Given the description of an element on the screen output the (x, y) to click on. 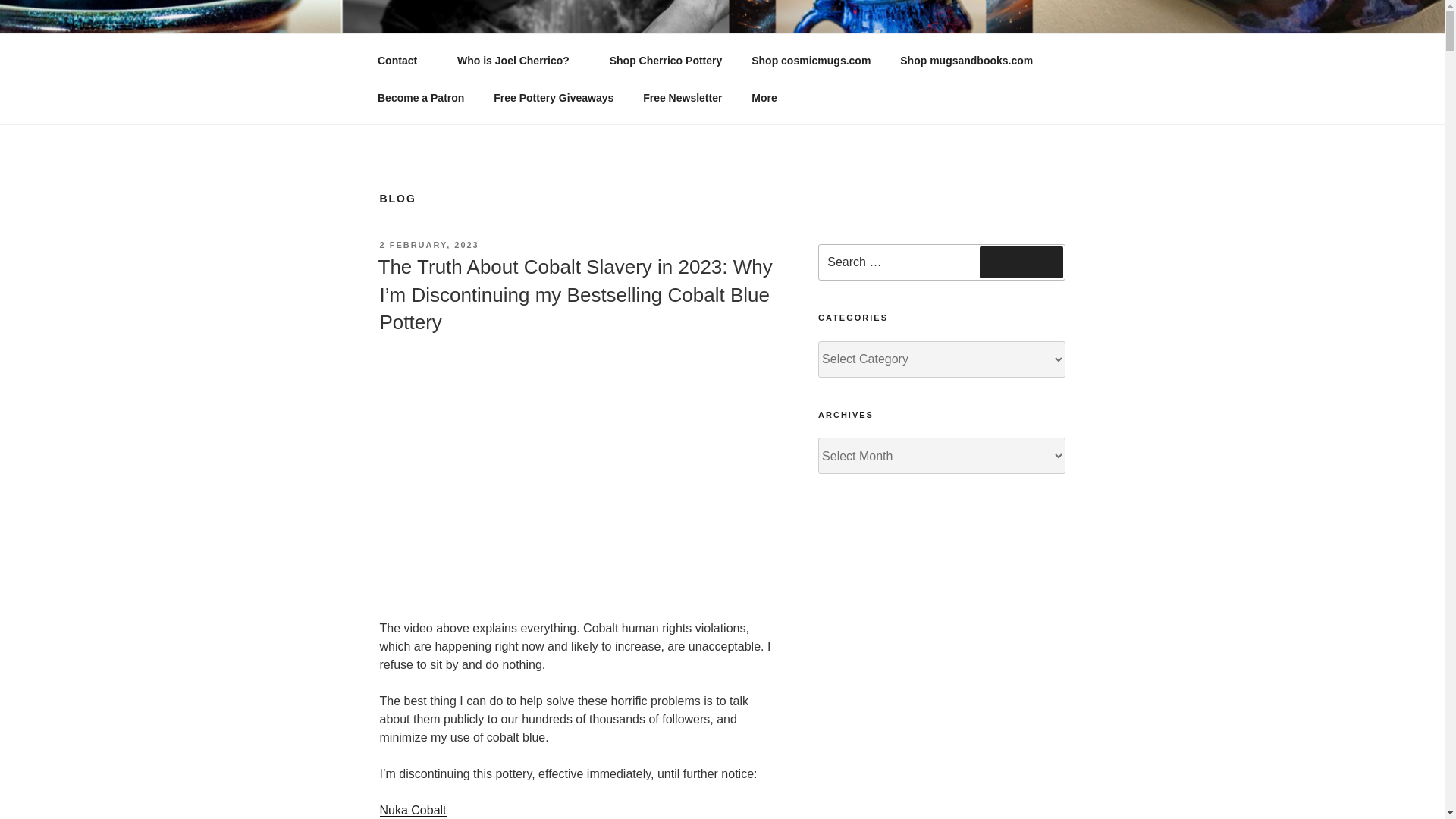
Free Pottery Giveaways (553, 97)
More (769, 97)
Contact (402, 60)
Free Newsletter (682, 97)
Shop cosmicmugs.com (810, 60)
Become a Patron (420, 97)
Shop Cherrico Pottery (665, 60)
JOEL CHERRICO POTTERY (581, 52)
Shop mugsandbooks.com (966, 60)
Who is Joel Cherrico? (519, 60)
